Given the description of an element on the screen output the (x, y) to click on. 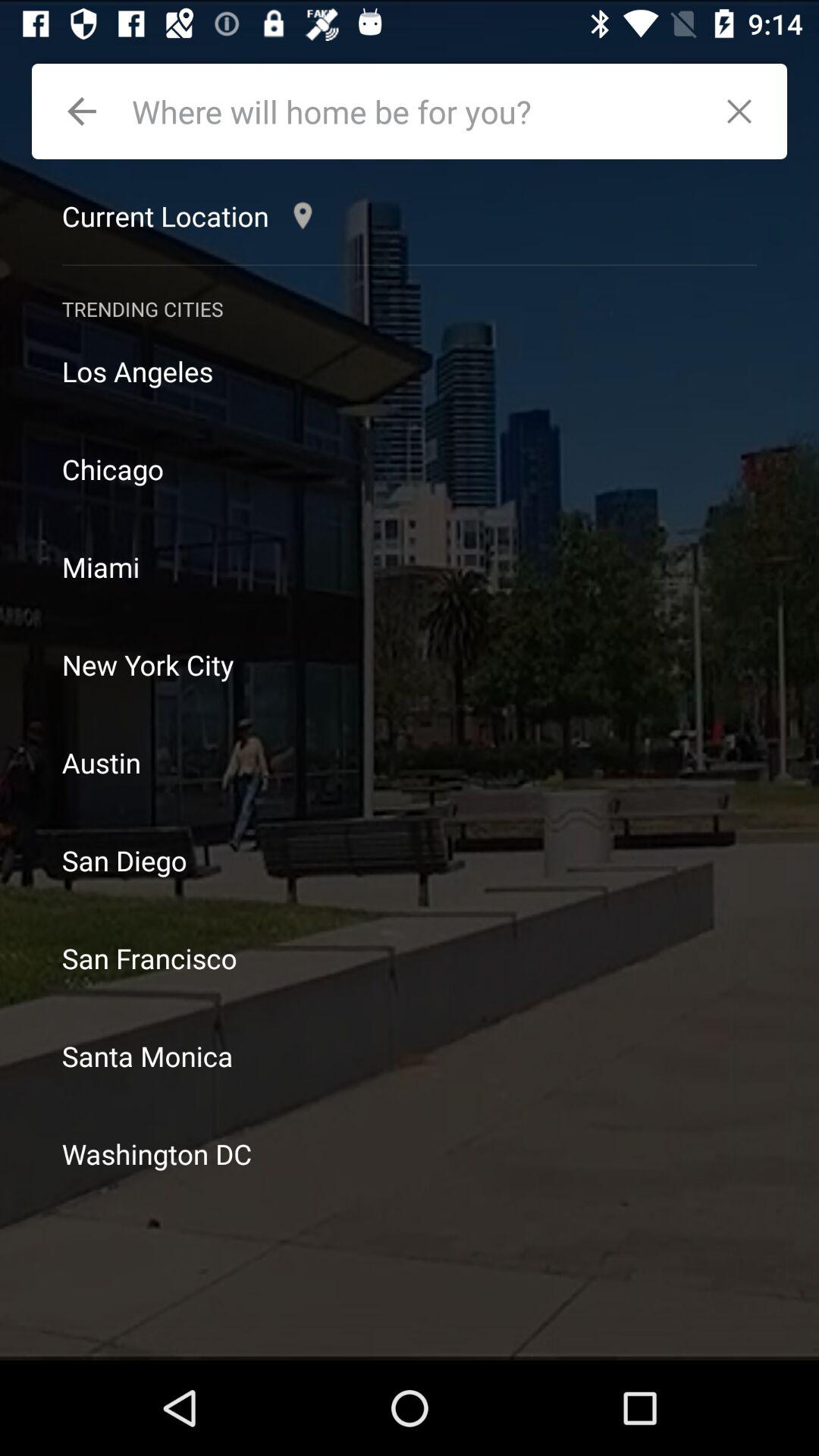
enter address (414, 111)
